Given the description of an element on the screen output the (x, y) to click on. 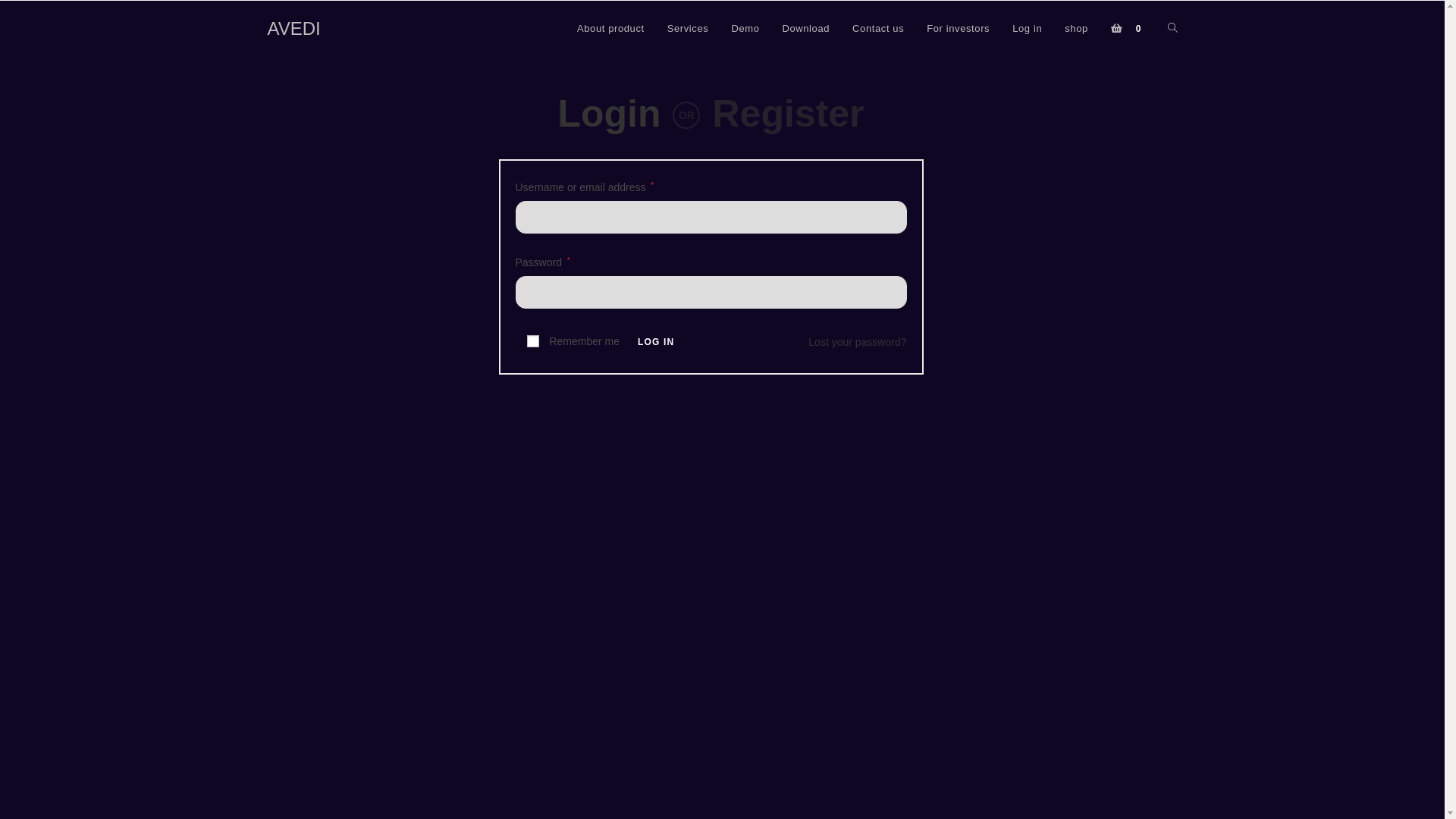
Register Element type: text (787, 113)
LOG IN Element type: text (656, 341)
AVEDI Element type: text (293, 28)
Login Element type: text (608, 113)
Log in Element type: text (1027, 28)
0 Element type: text (1127, 28)
Contact us Element type: text (877, 28)
About product Element type: text (610, 28)
For investors Element type: text (958, 28)
Download Element type: text (805, 28)
Services Element type: text (687, 28)
Lost your password? Element type: text (857, 341)
Demo Element type: text (744, 28)
shop Element type: text (1076, 28)
